Given the description of an element on the screen output the (x, y) to click on. 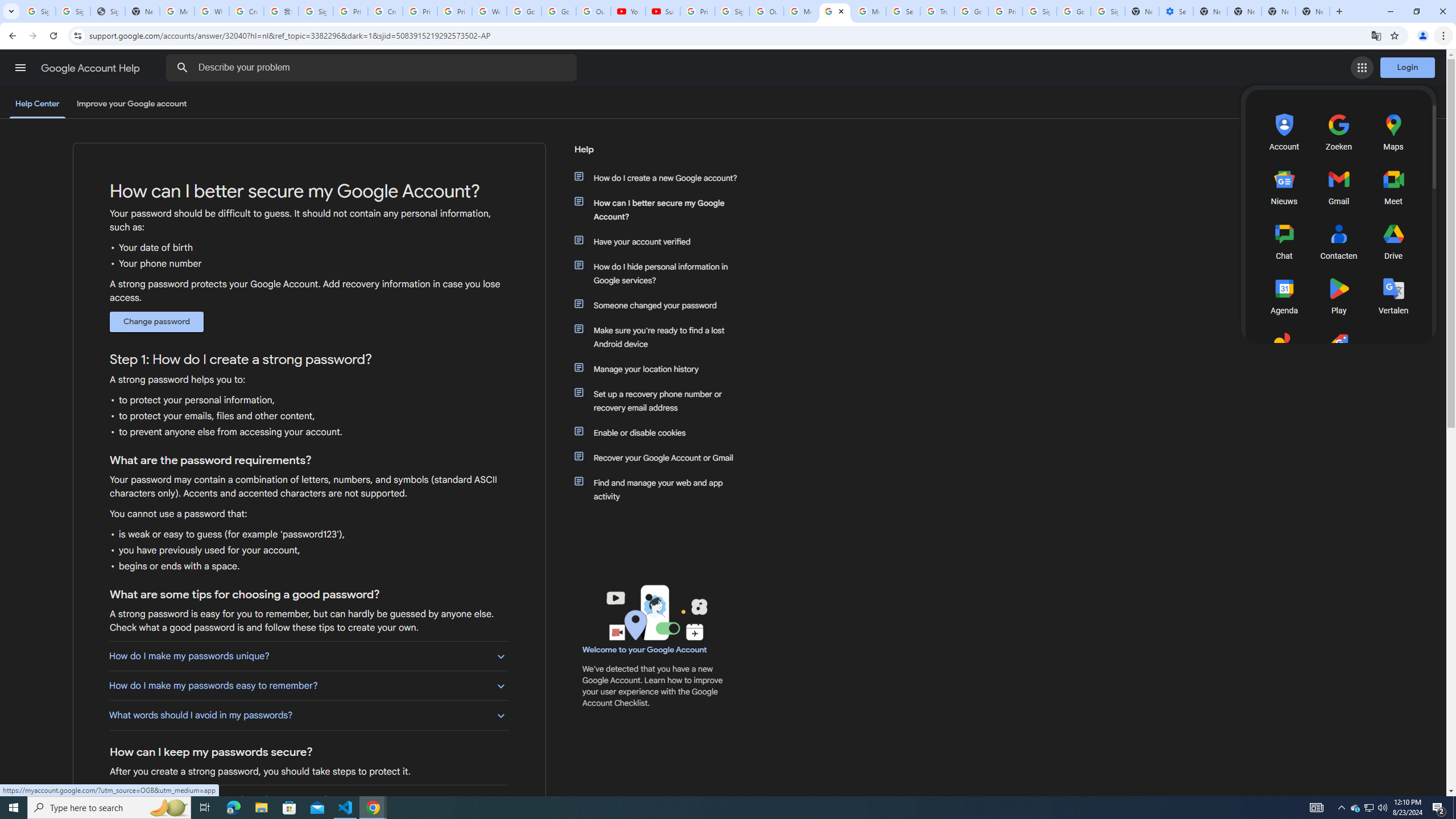
Welcome to your Google Account (644, 649)
Recover your Google Account or Gmail (661, 457)
Login (1407, 67)
What words should I avoid in my passwords? (308, 715)
How do I make my passwords easy to remember? (308, 685)
Set up a recovery phone number or recovery email address (661, 400)
Sign in - Google Accounts (1039, 11)
Trusted Information and Content - Google Safety Center (937, 11)
Find and manage your web and app activity (661, 489)
